Given the description of an element on the screen output the (x, y) to click on. 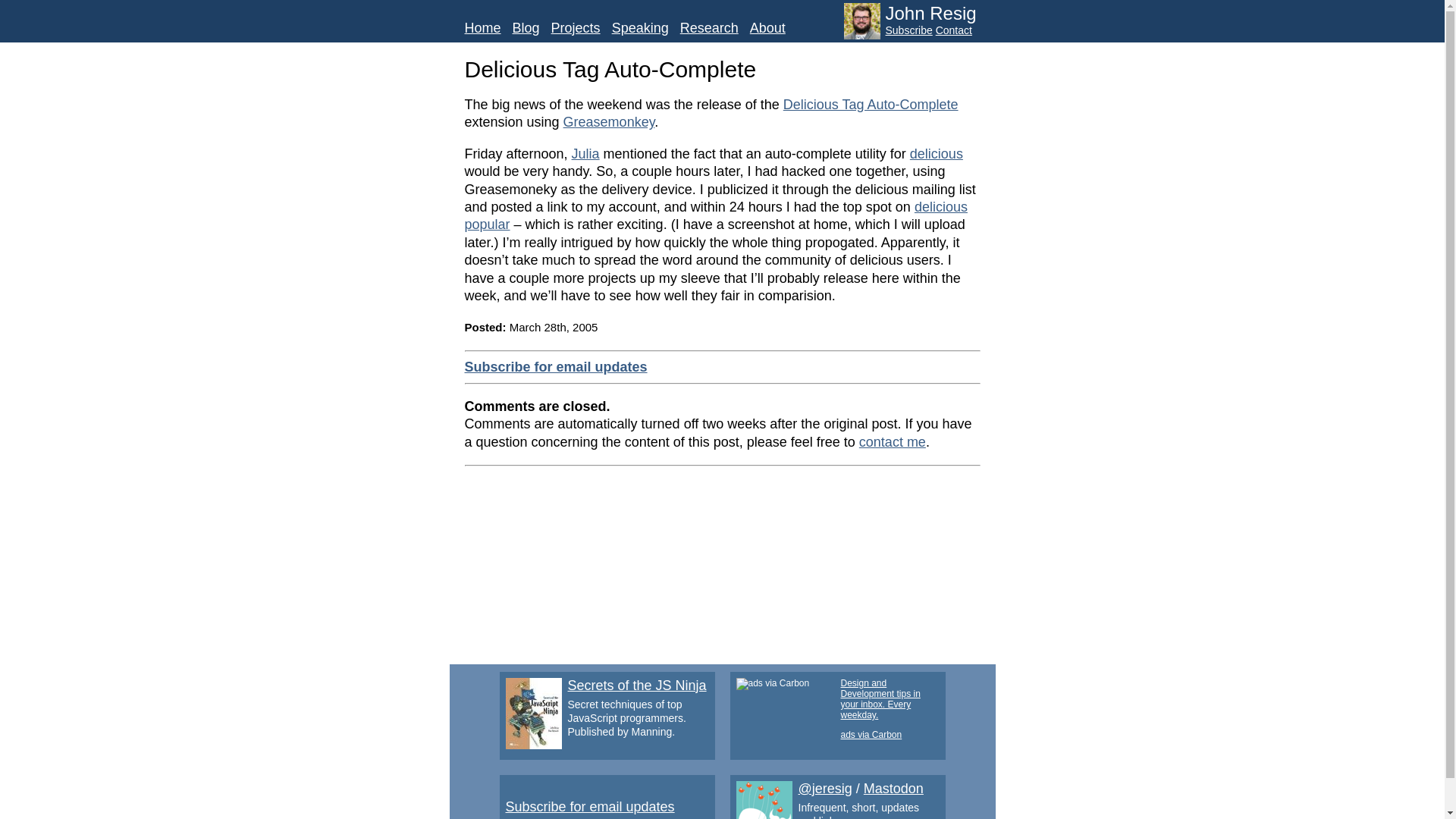
Julia (585, 153)
Blog (526, 28)
Subscribe for email updates (589, 806)
Mastodon (893, 788)
Speaking (639, 28)
contact me (892, 441)
About (767, 28)
Subscribe for email updates (555, 366)
Subscribe (909, 30)
Greasemonkey (609, 121)
